Given the description of an element on the screen output the (x, y) to click on. 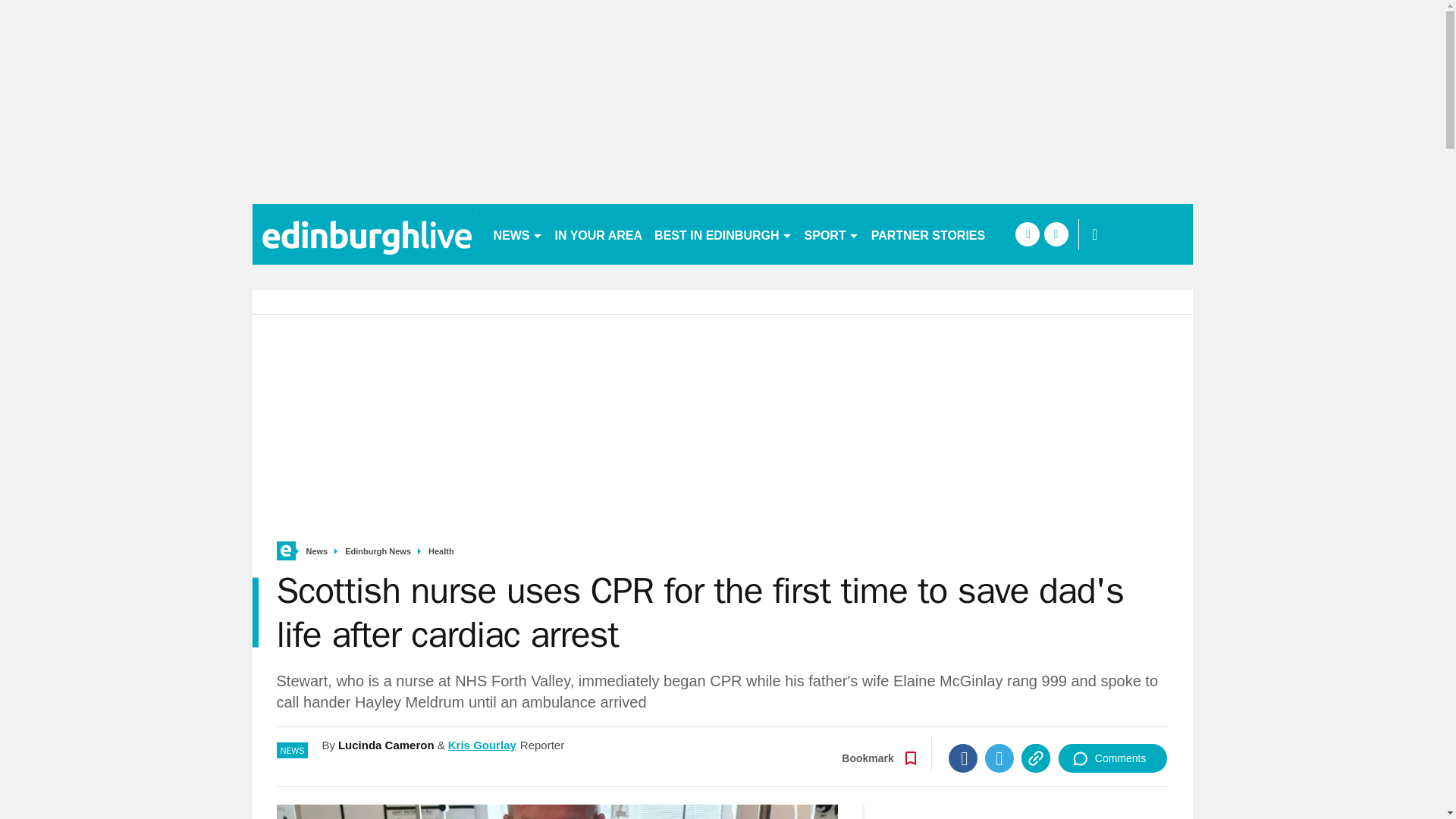
Comments (1112, 758)
Facebook (962, 758)
NEWS (517, 233)
edinburghlive (365, 233)
twitter (1055, 233)
PARTNER STORIES (927, 233)
IN YOUR AREA (598, 233)
BEST IN EDINBURGH (722, 233)
SPORT (830, 233)
VOUCHER CODES (1056, 233)
Twitter (999, 758)
facebook (1026, 233)
